Given the description of an element on the screen output the (x, y) to click on. 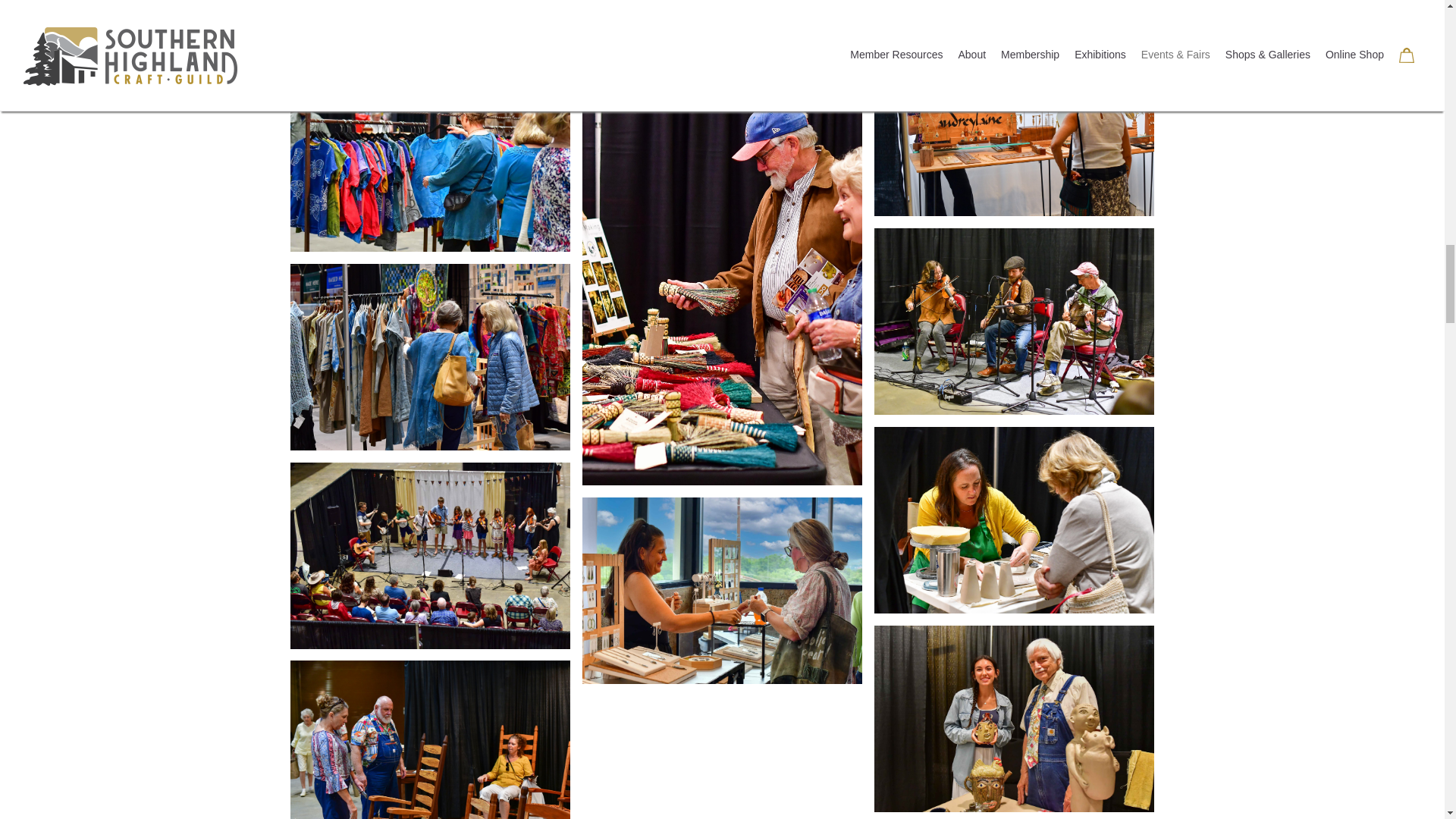
Craft Fair 2023 - 15 (429, 27)
